Given the description of an element on the screen output the (x, y) to click on. 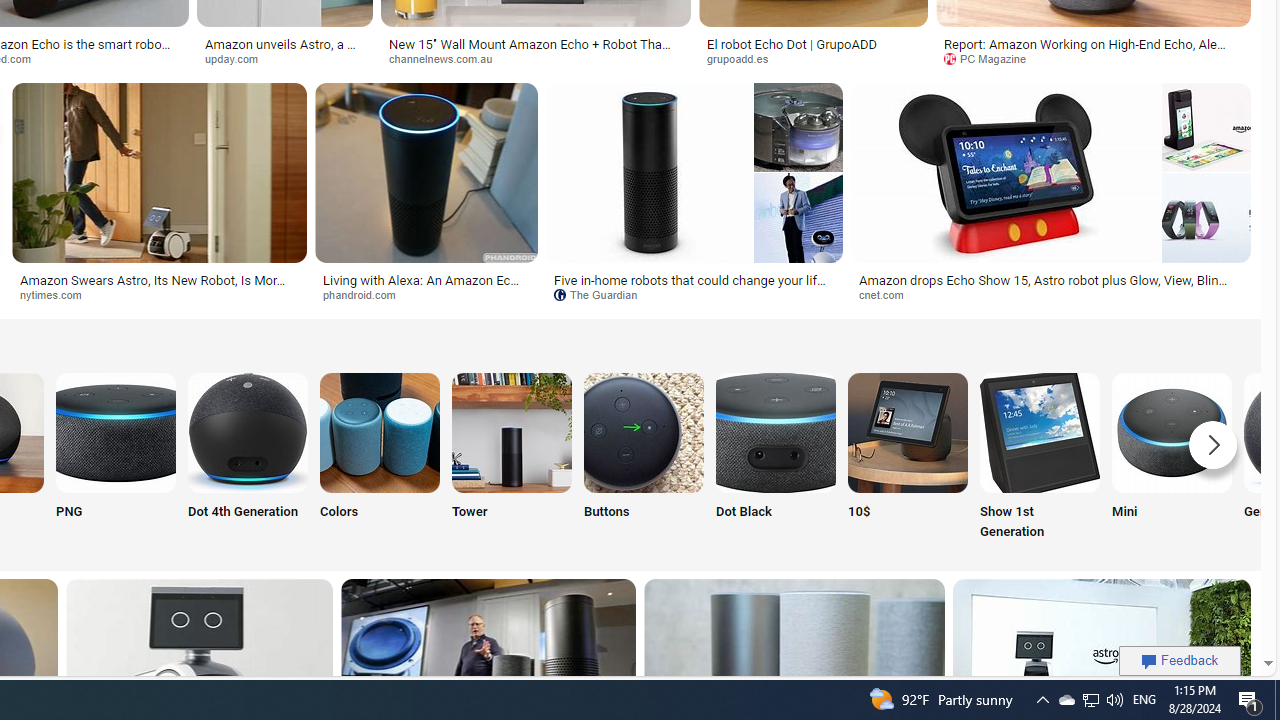
Scroll more suggestions right (1213, 444)
PC Magazine (1093, 58)
Living with Alexa: An Amazon Echo Review (425, 286)
PC Magazine (992, 57)
El robot Echo Dot | GrupoADD (791, 44)
Amazon Echo PNG PNG (116, 458)
phandroid.com (365, 294)
Image result for Amazon Echo Robot (1050, 172)
Amazon Echo Tower (511, 432)
upday.com (284, 58)
